Given the description of an element on the screen output the (x, y) to click on. 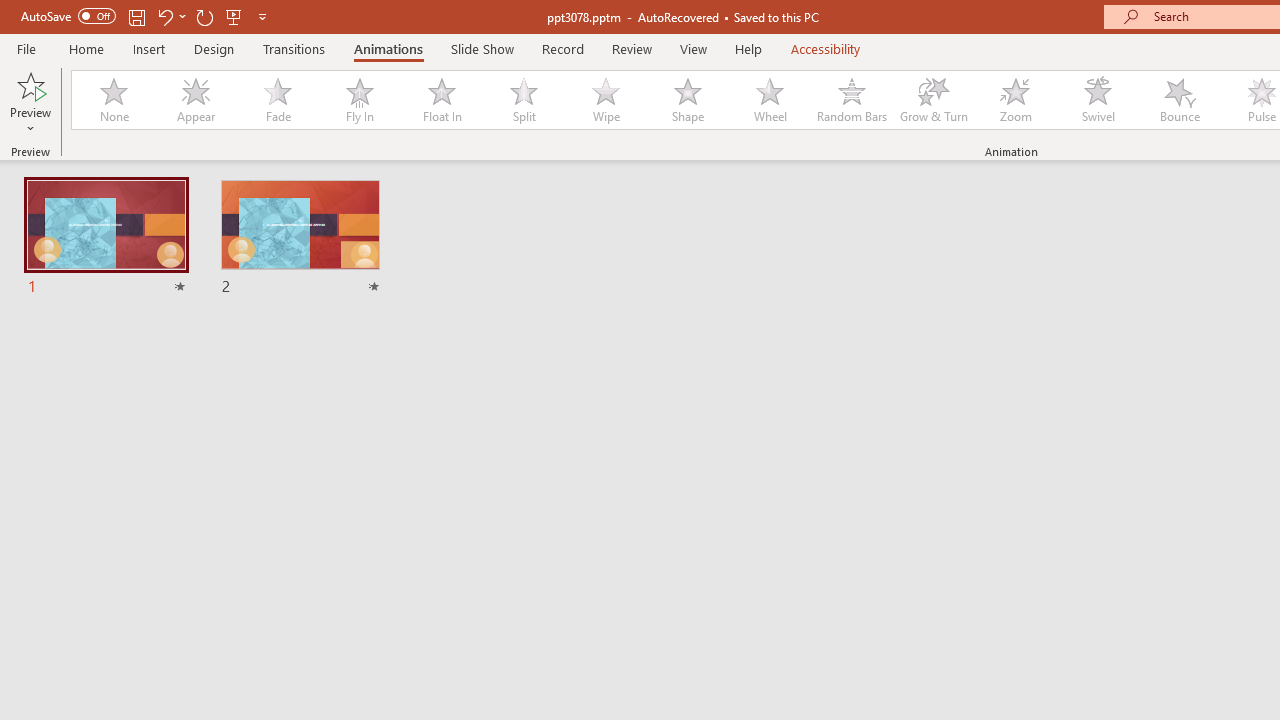
Fade (277, 100)
Wheel (770, 100)
Appear (195, 100)
Swivel (1098, 100)
